Given the description of an element on the screen output the (x, y) to click on. 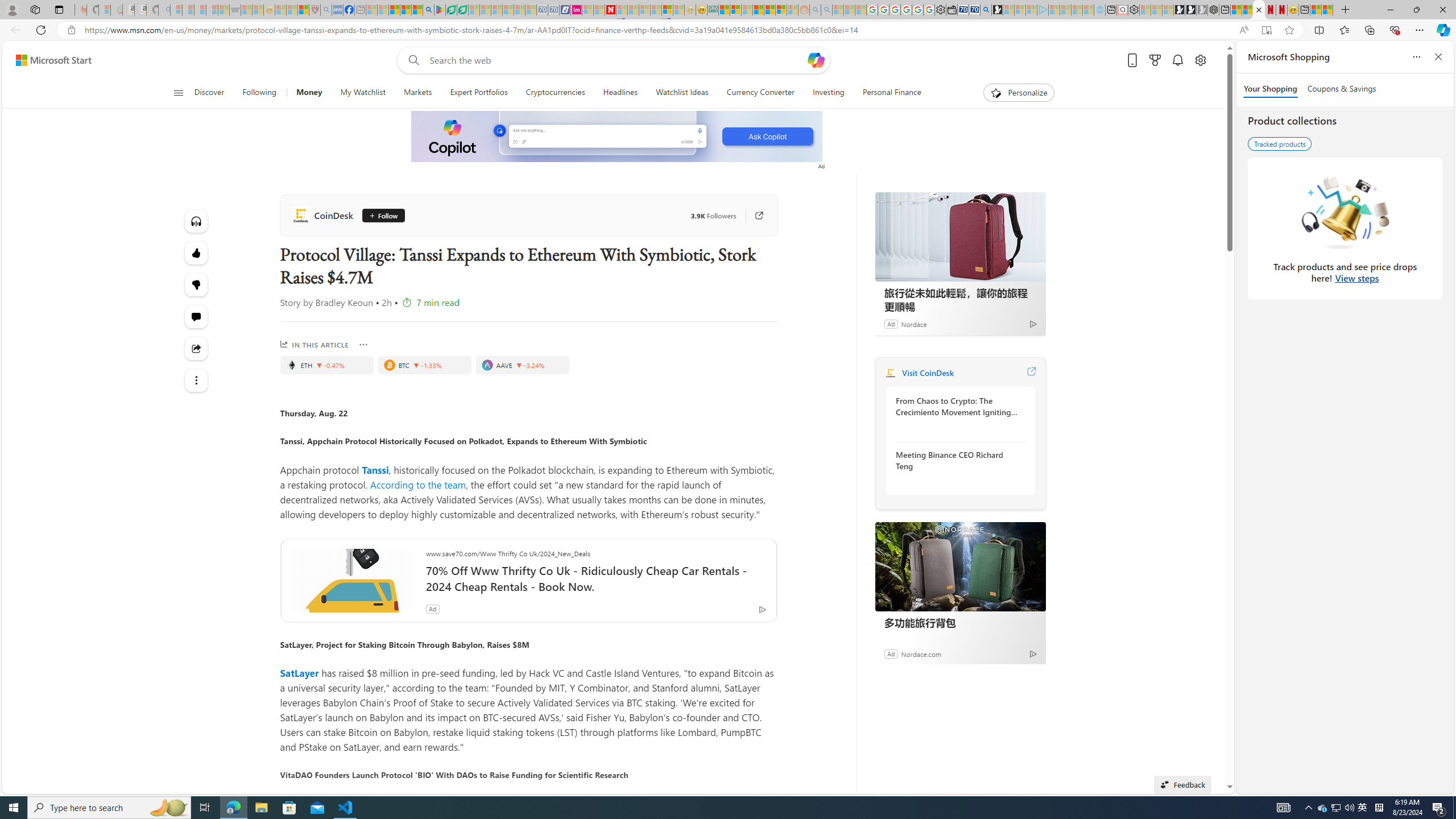
Local - MSN (303, 9)
